Given the description of an element on the screen output the (x, y) to click on. 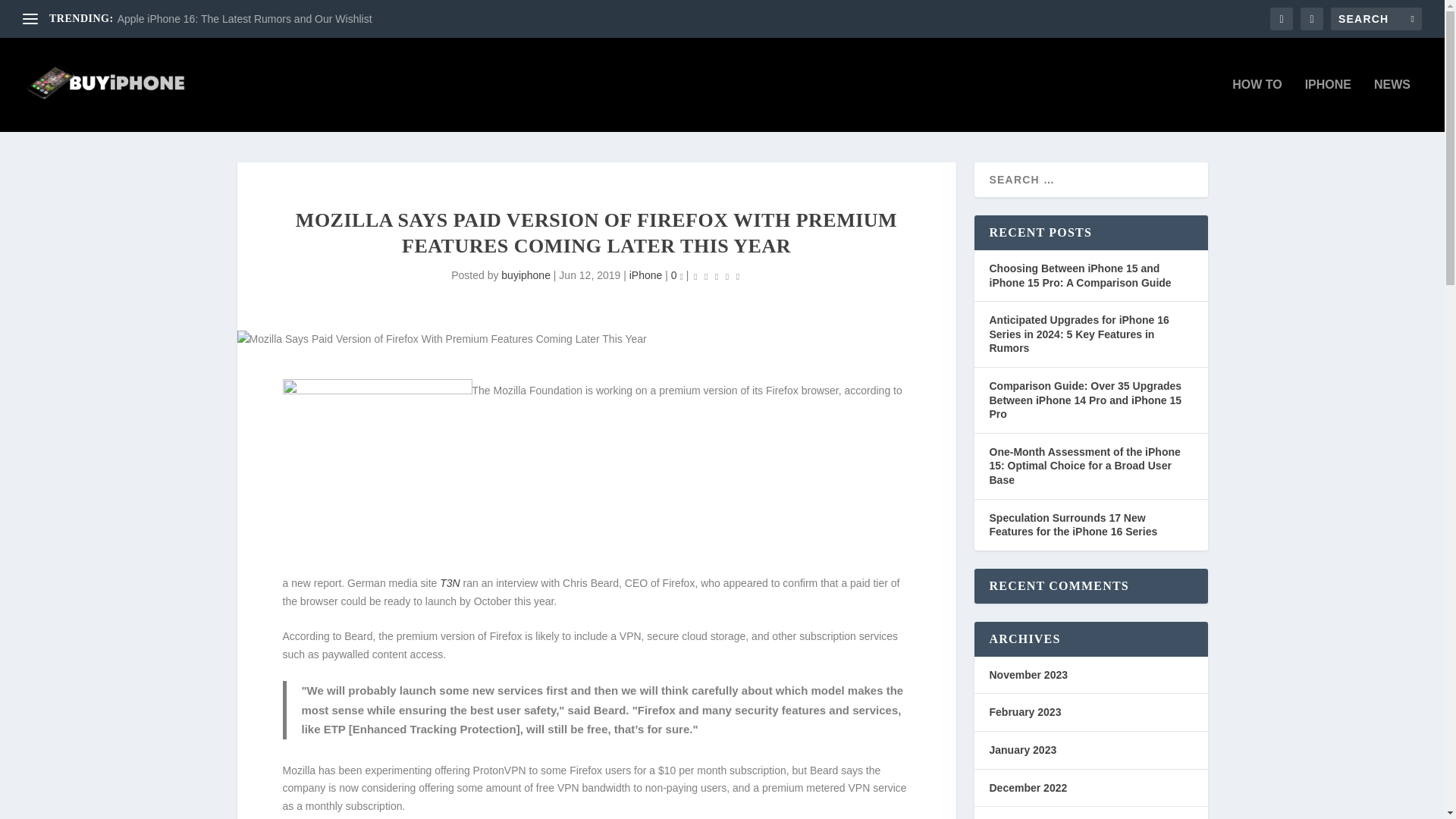
Apple iPhone 16: The Latest Rumors and Our Wishlist (244, 19)
Search for: (1376, 18)
comment count (680, 276)
IPHONE (1327, 104)
Posts by buyiphone (525, 275)
T3N (449, 582)
Rating: 0.00 (716, 275)
HOW TO (1256, 104)
NEWS (1392, 104)
buyiphone (525, 275)
iPhone (645, 275)
0 (676, 275)
